Given the description of an element on the screen output the (x, y) to click on. 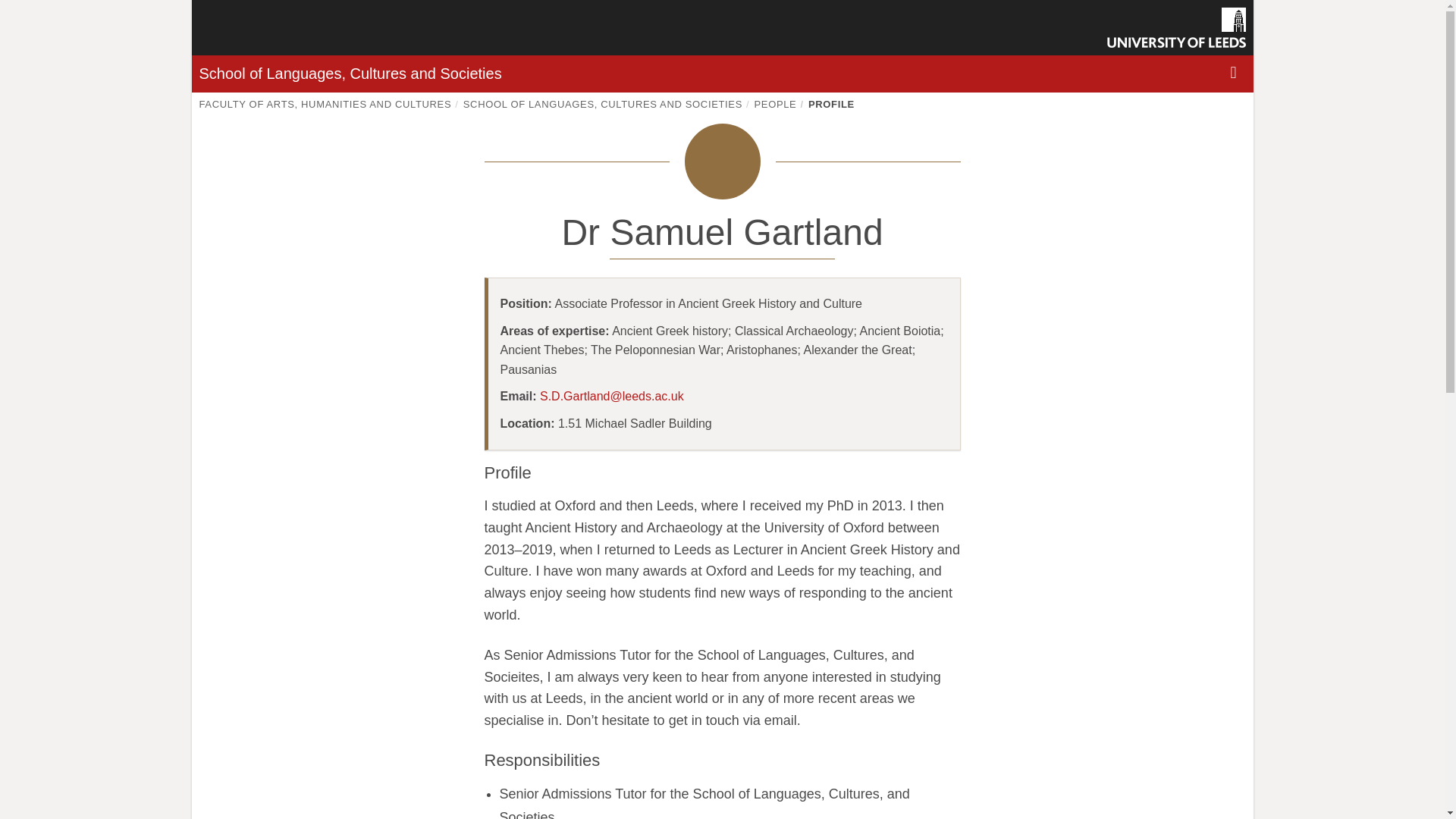
School of Languages, Cultures and Societies (349, 73)
University of Leeds homepage (1176, 27)
